Given the description of an element on the screen output the (x, y) to click on. 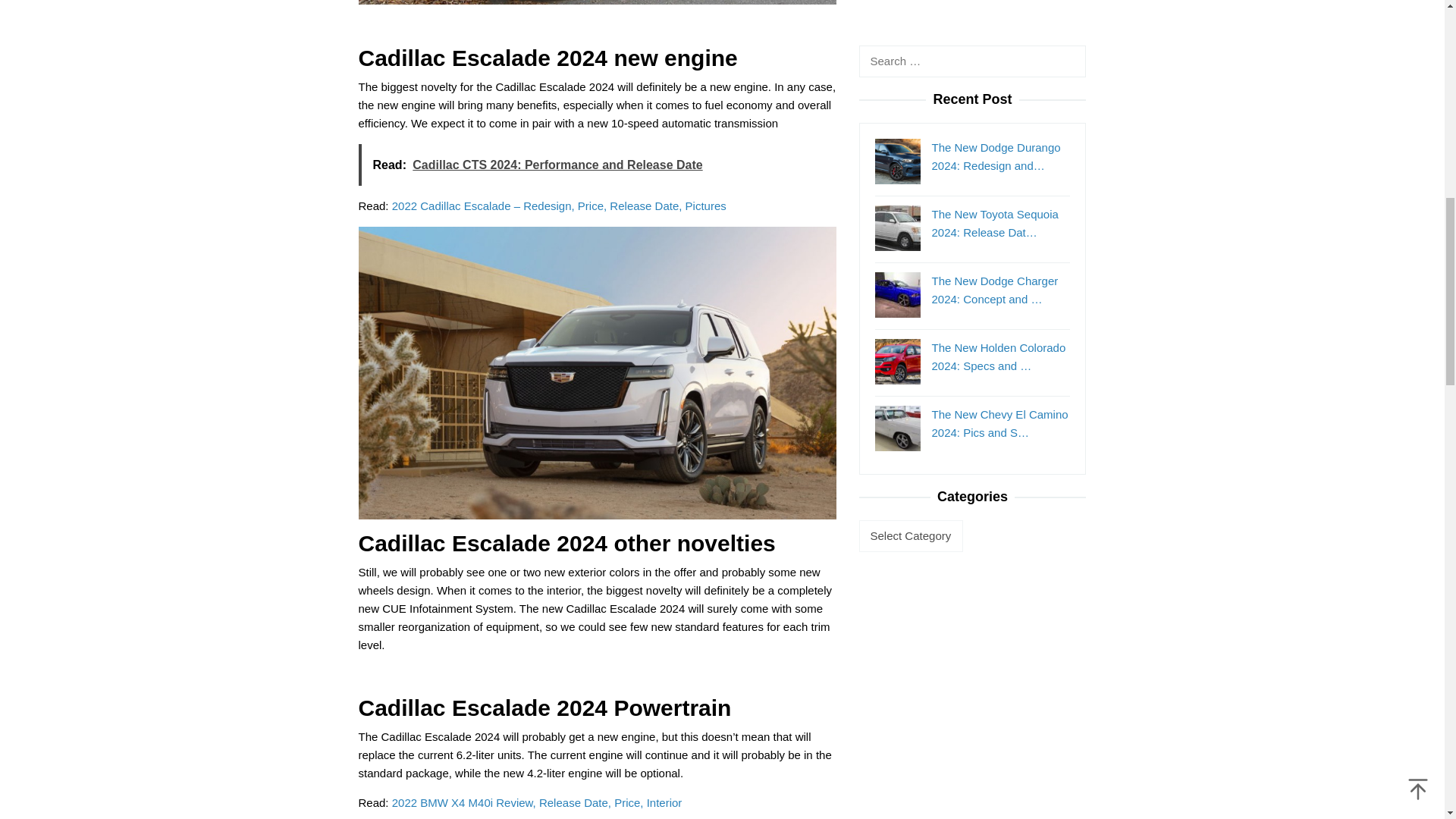
Read:  Cadillac CTS 2024: Performance and Release Date (596, 165)
2022 BMW X4 M40i Review, Release Date, Price, Interior (536, 802)
